Given the description of an element on the screen output the (x, y) to click on. 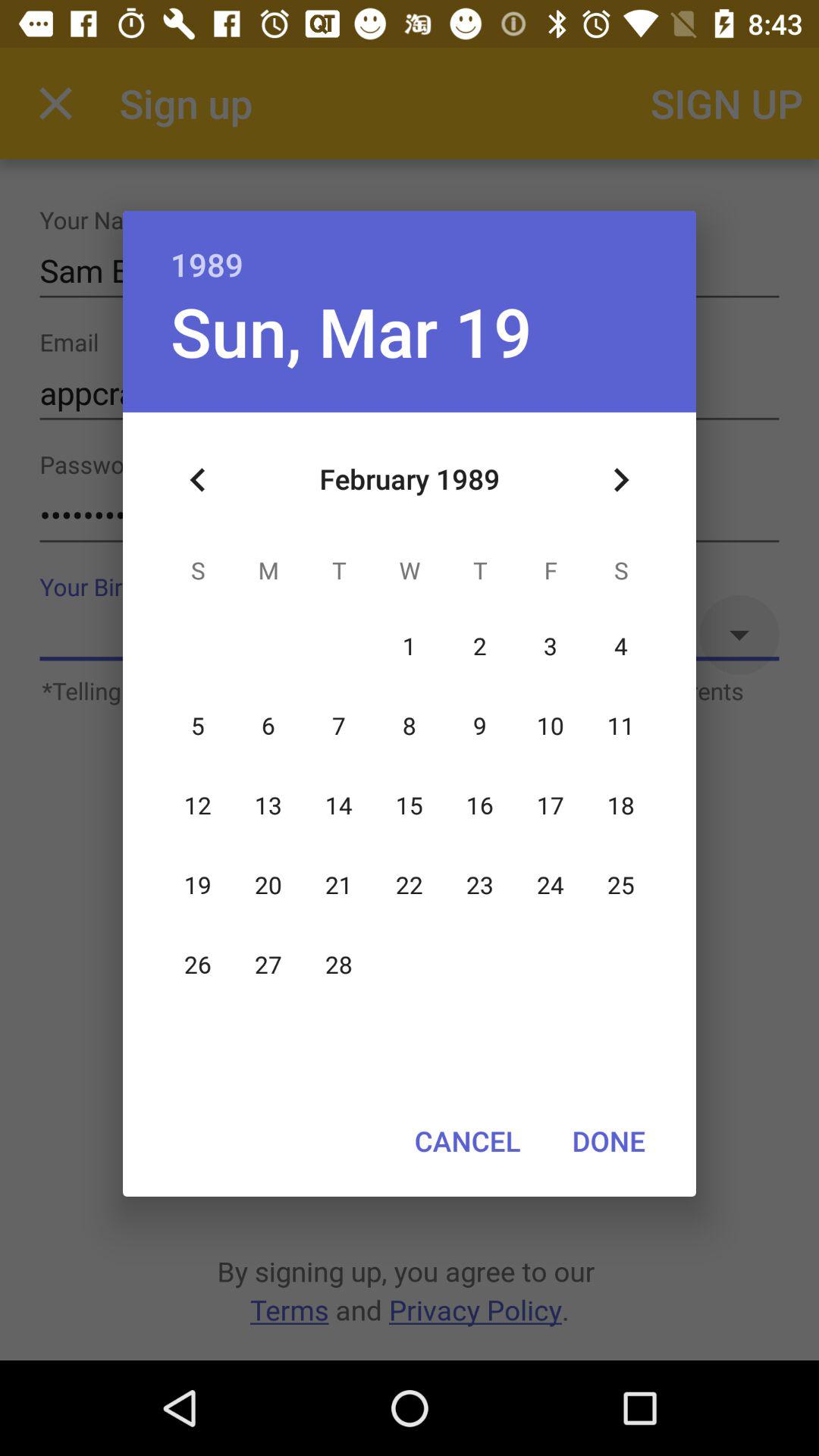
turn on item at the bottom right corner (608, 1140)
